Given the description of an element on the screen output the (x, y) to click on. 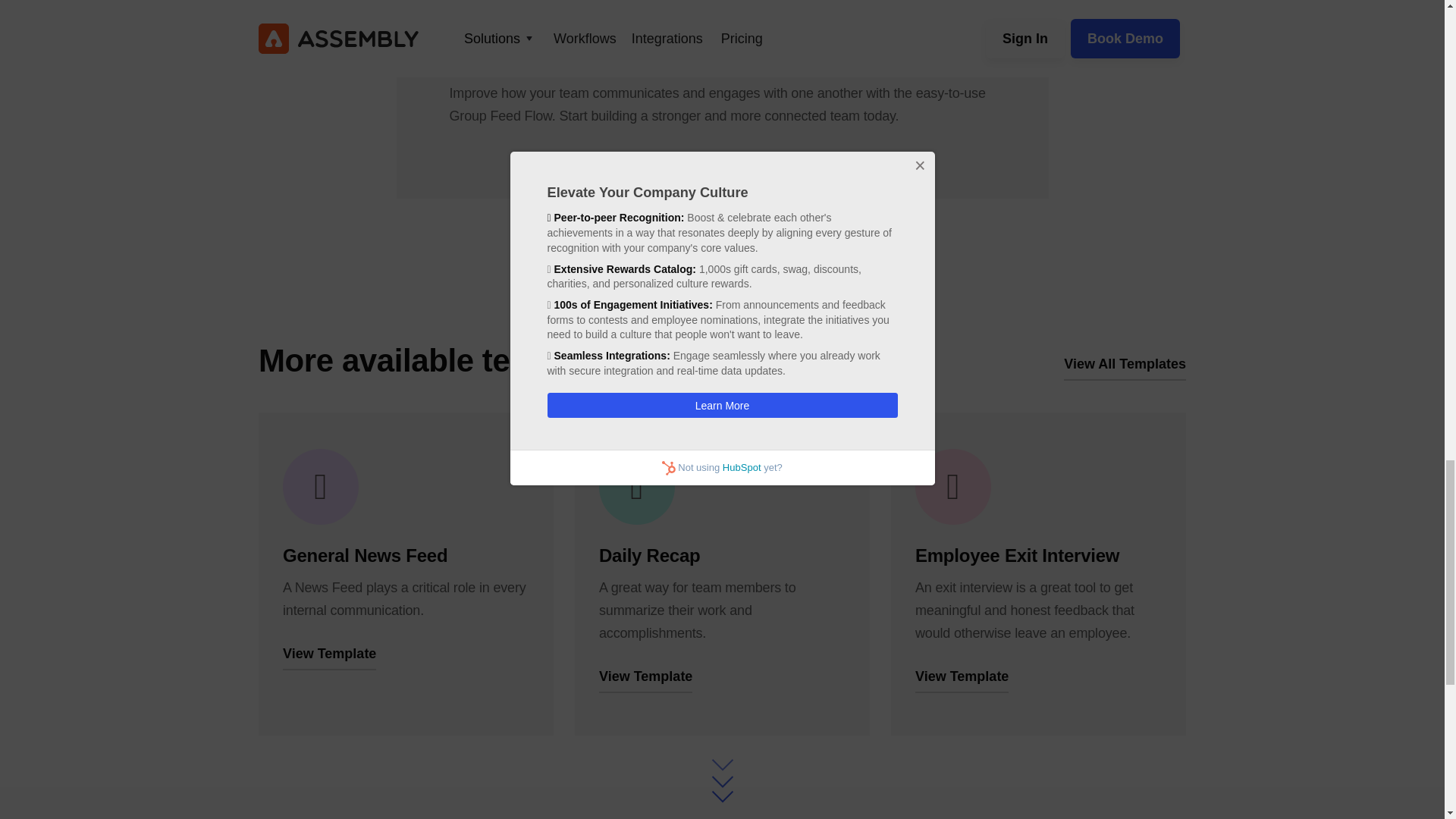
View All Templates (1125, 368)
